Given the description of an element on the screen output the (x, y) to click on. 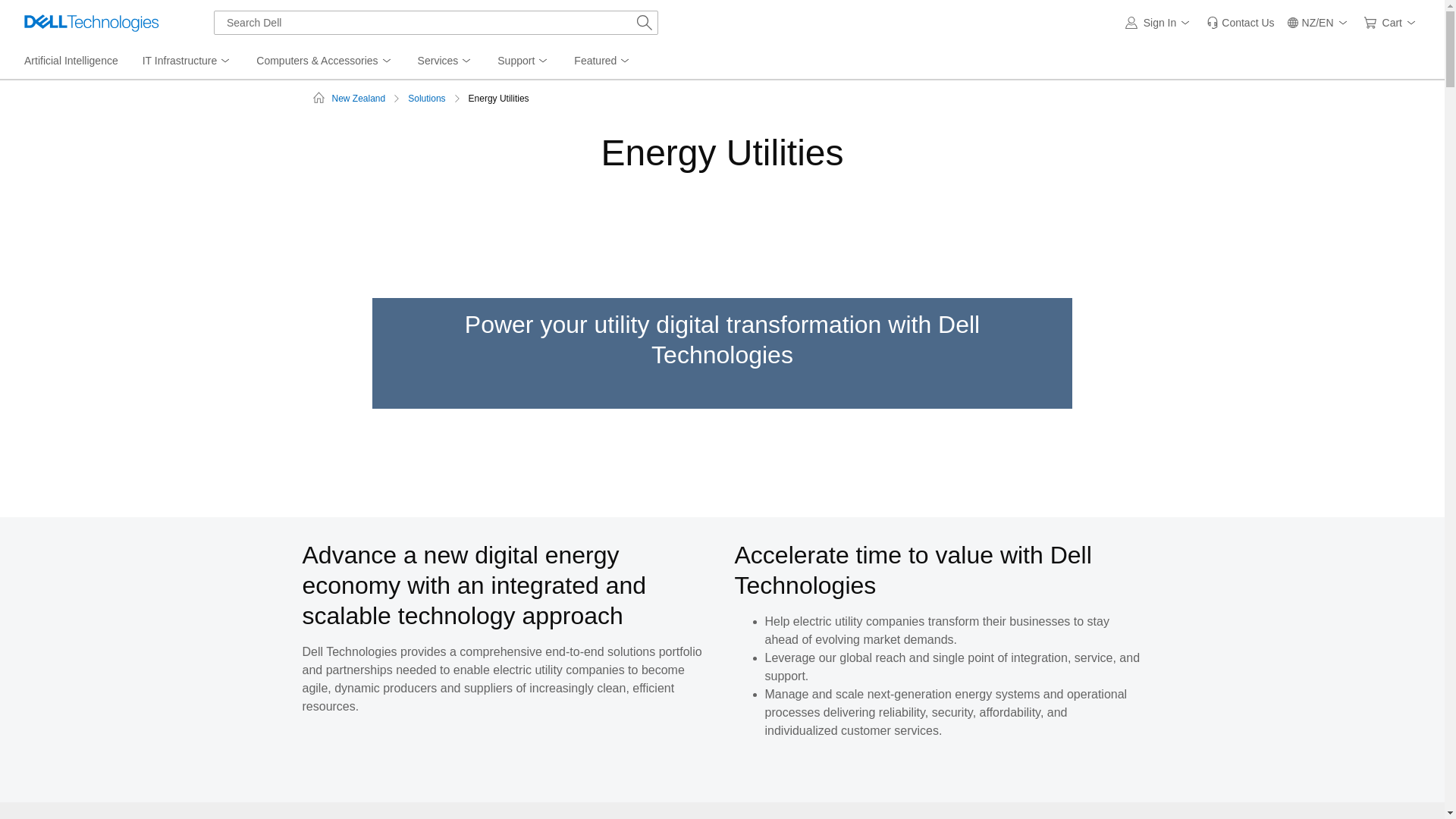
Sign In (1160, 22)
Contact Us (1239, 22)
Artificial Intelligence (71, 61)
IT Infrastructure (187, 61)
Cart (1392, 22)
